Given the description of an element on the screen output the (x, y) to click on. 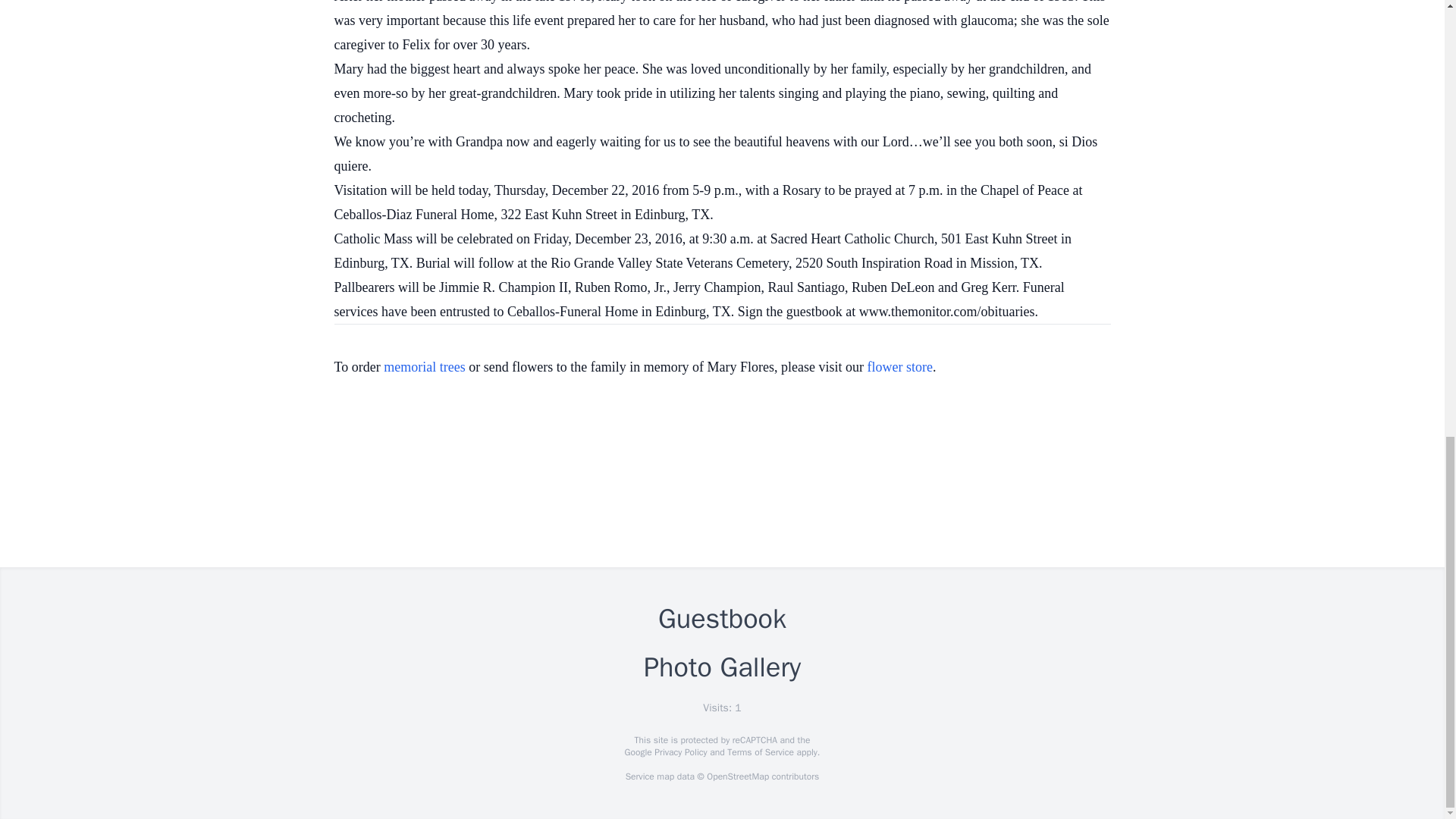
Terms of Service (759, 752)
Privacy Policy (679, 752)
memorial trees (424, 366)
flower store (900, 366)
OpenStreetMap (737, 776)
